Given the description of an element on the screen output the (x, y) to click on. 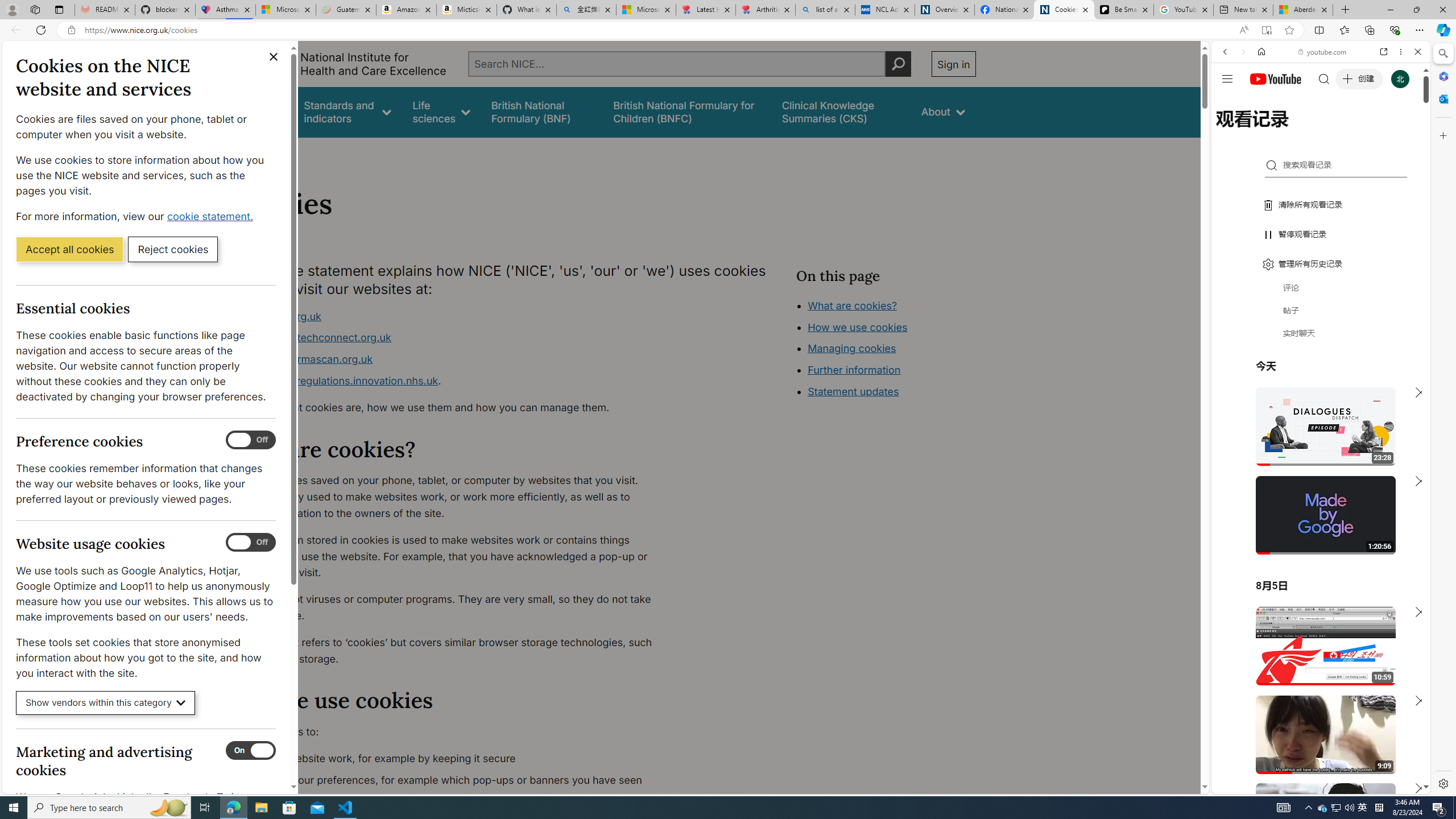
Microsoft-Report a Concern to Bing (285, 9)
Life sciences (440, 111)
Search Filter, IMAGES (1262, 129)
Forward (1242, 51)
you (1315, 755)
Sign in (952, 63)
Class: b_serphb (1404, 130)
Enter Immersive Reader (F9) (1266, 29)
